Given the description of an element on the screen output the (x, y) to click on. 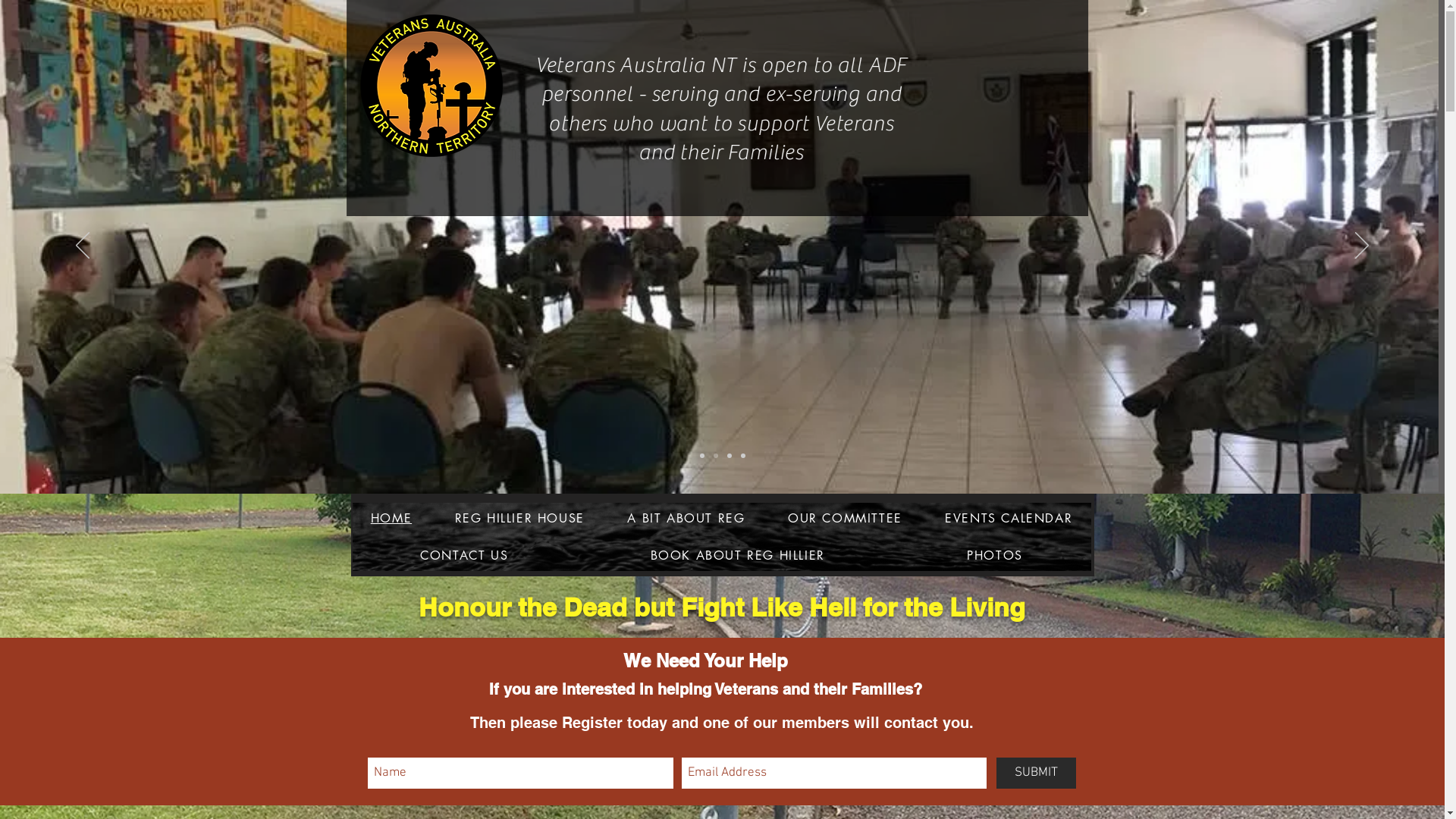
A BIT ABOUT REG Element type: text (685, 517)
SUBMIT Element type: text (1036, 772)
OUR COMMITTEE Element type: text (844, 517)
BOOK ABOUT REG HILLIER Element type: text (737, 555)
EVENTS CALENDAR Element type: text (1008, 517)
PHOTOS Element type: text (994, 555)
REG HILLIER HOUSE Element type: text (519, 517)
HOME Element type: text (390, 517)
CONTACT US Element type: text (463, 555)
